Given the description of an element on the screen output the (x, y) to click on. 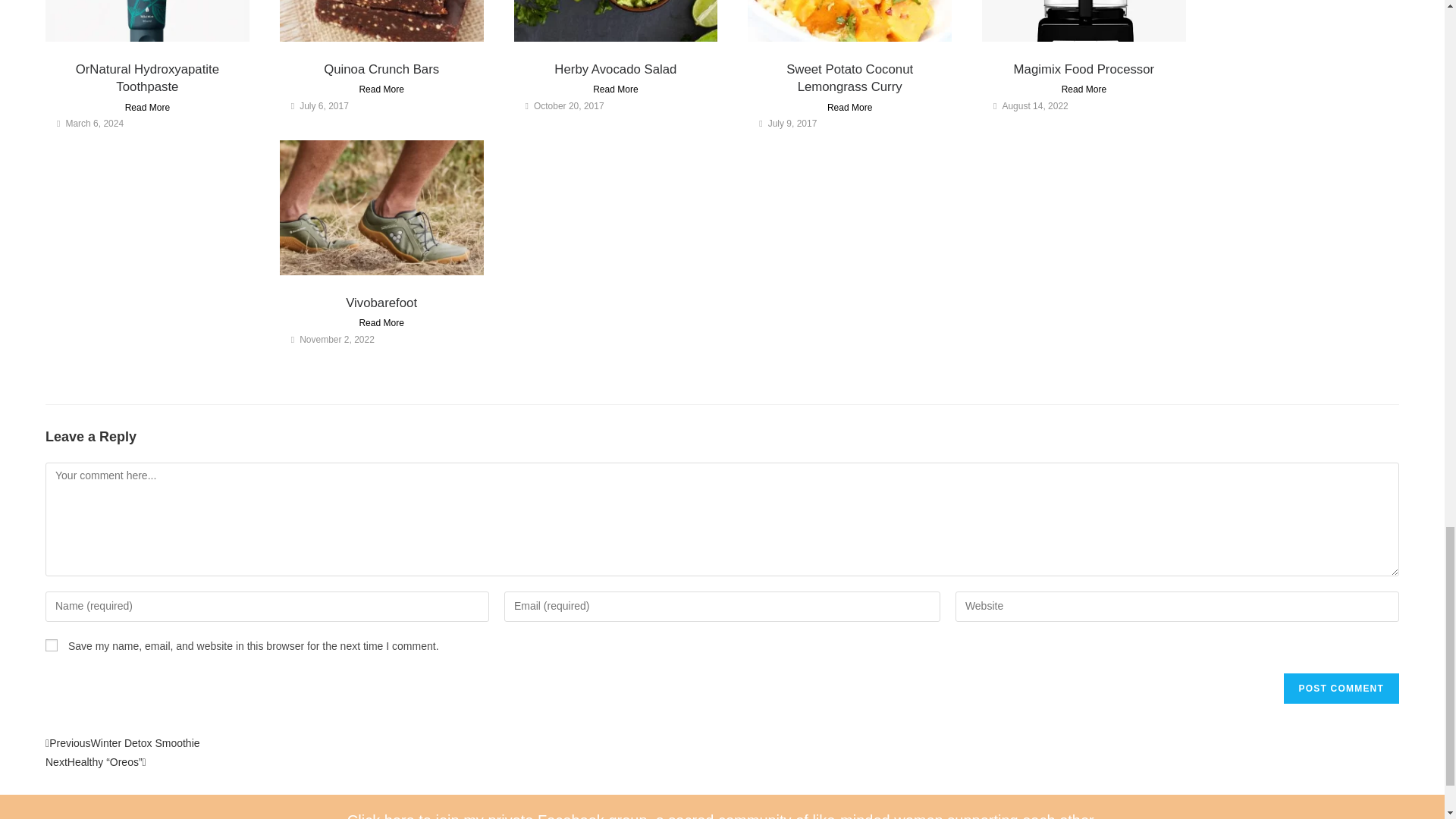
Quinoa Crunch Bars (381, 69)
Sweet Potato Coconut Lemongrass Curry (849, 78)
OrNatural Hydroxyapatite Toothpaste (147, 78)
Vivobarefoot (381, 302)
Magimix Food Processor (1083, 69)
Post Comment (1341, 688)
yes (51, 645)
Herby Avocado Salad (615, 69)
